Given the description of an element on the screen output the (x, y) to click on. 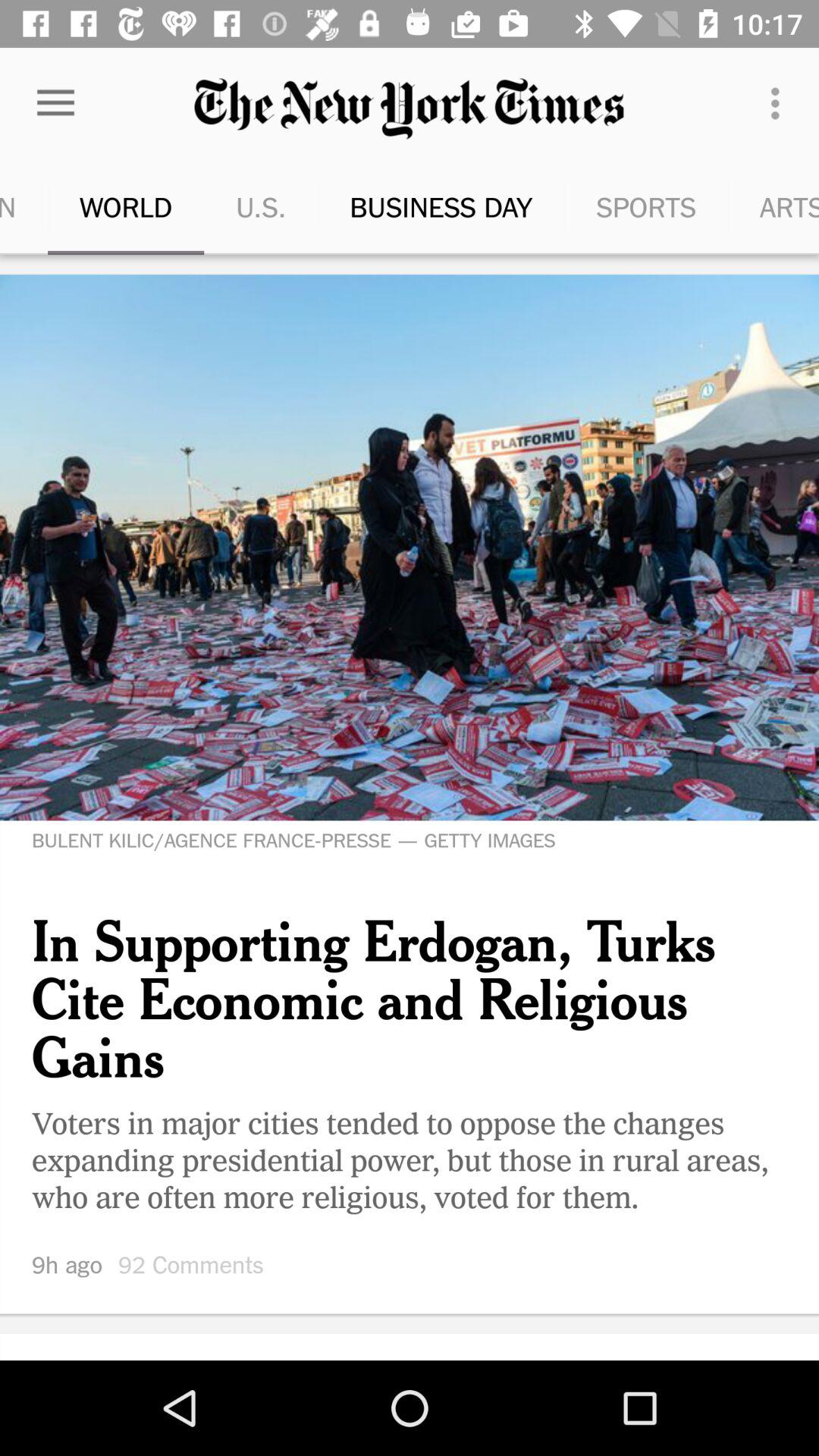
scroll to world icon (87, 206)
